Given the description of an element on the screen output the (x, y) to click on. 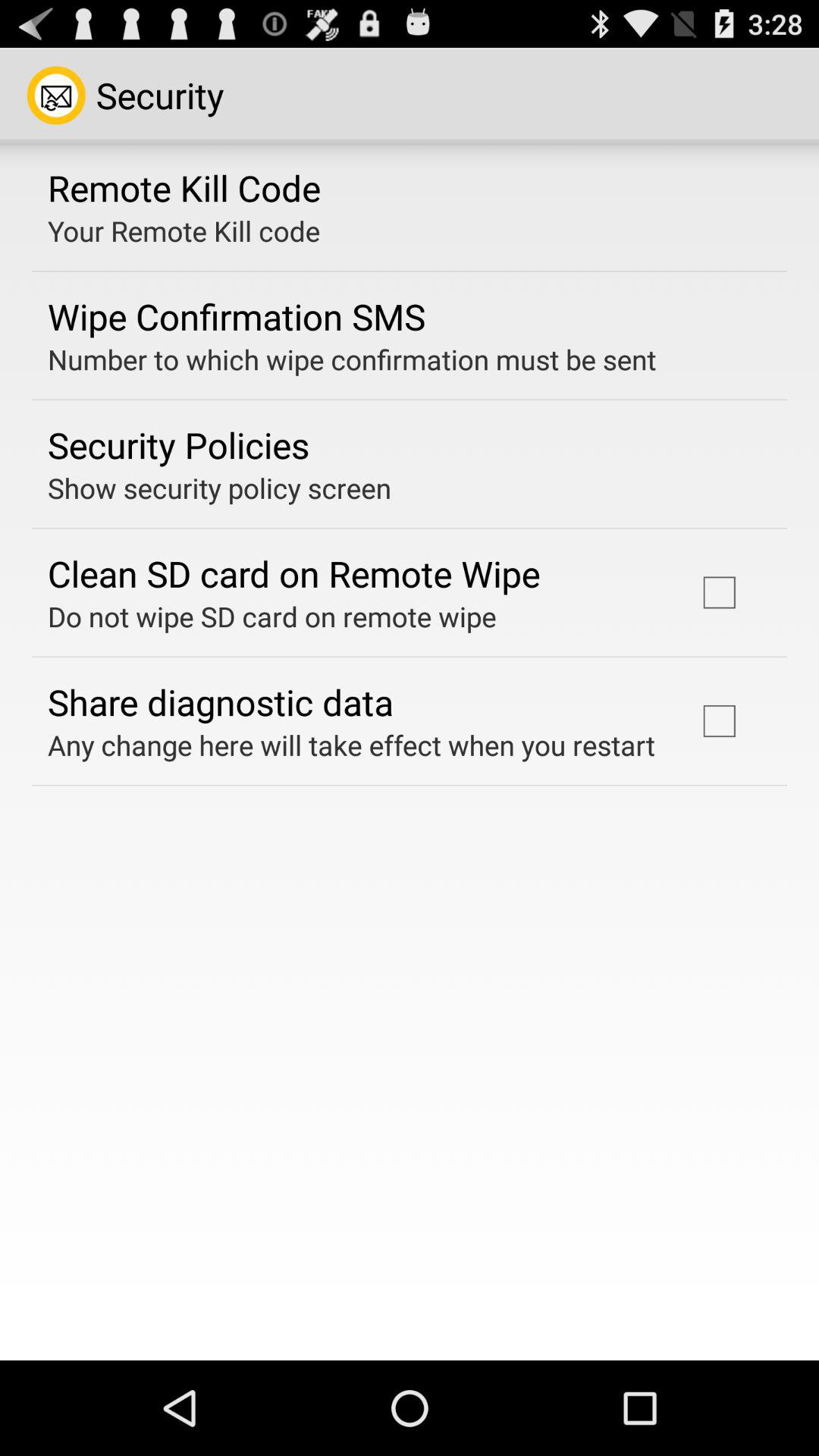
click item above the show security policy (178, 444)
